Given the description of an element on the screen output the (x, y) to click on. 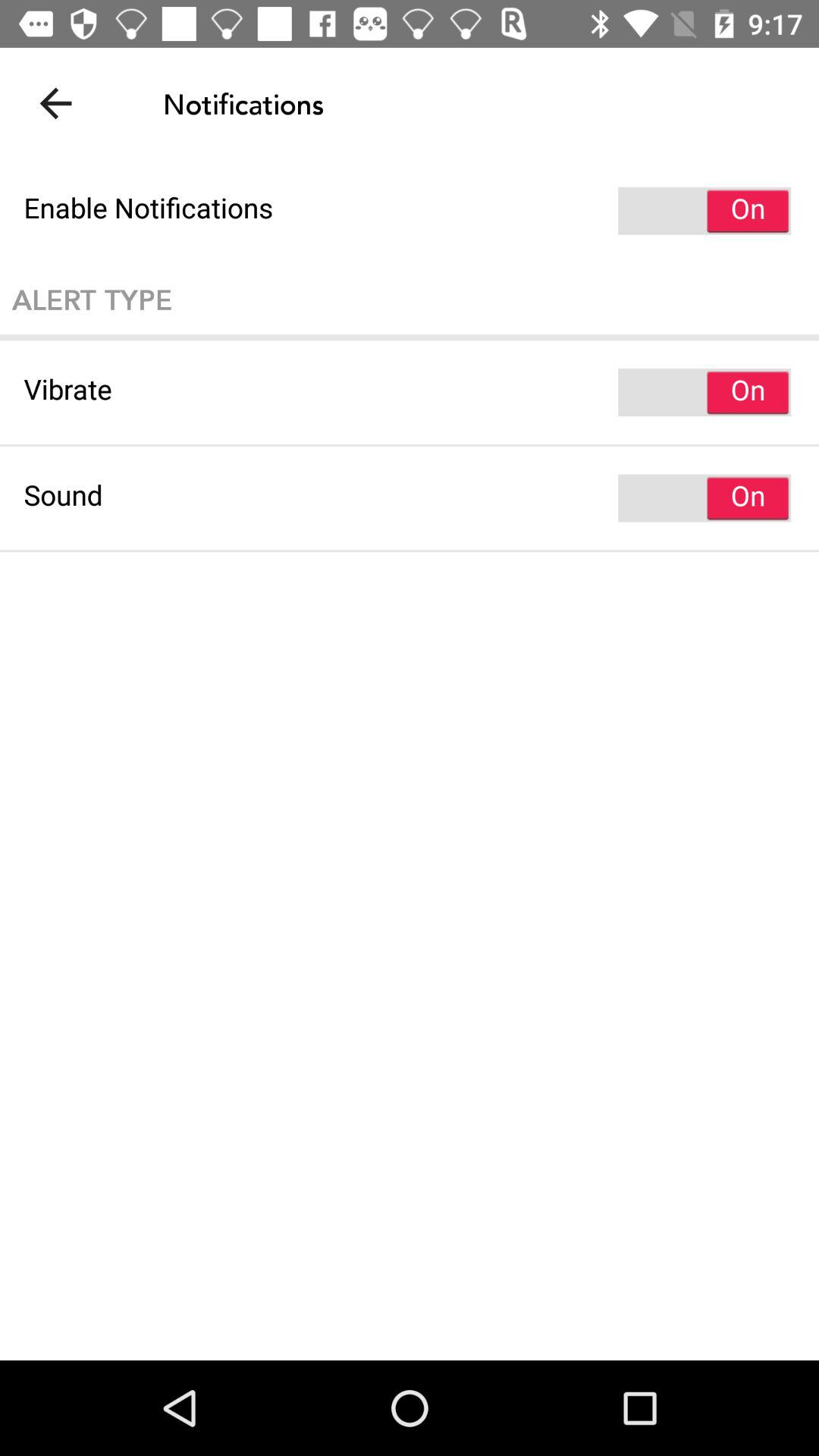
click item at the top left corner (55, 103)
